Given the description of an element on the screen output the (x, y) to click on. 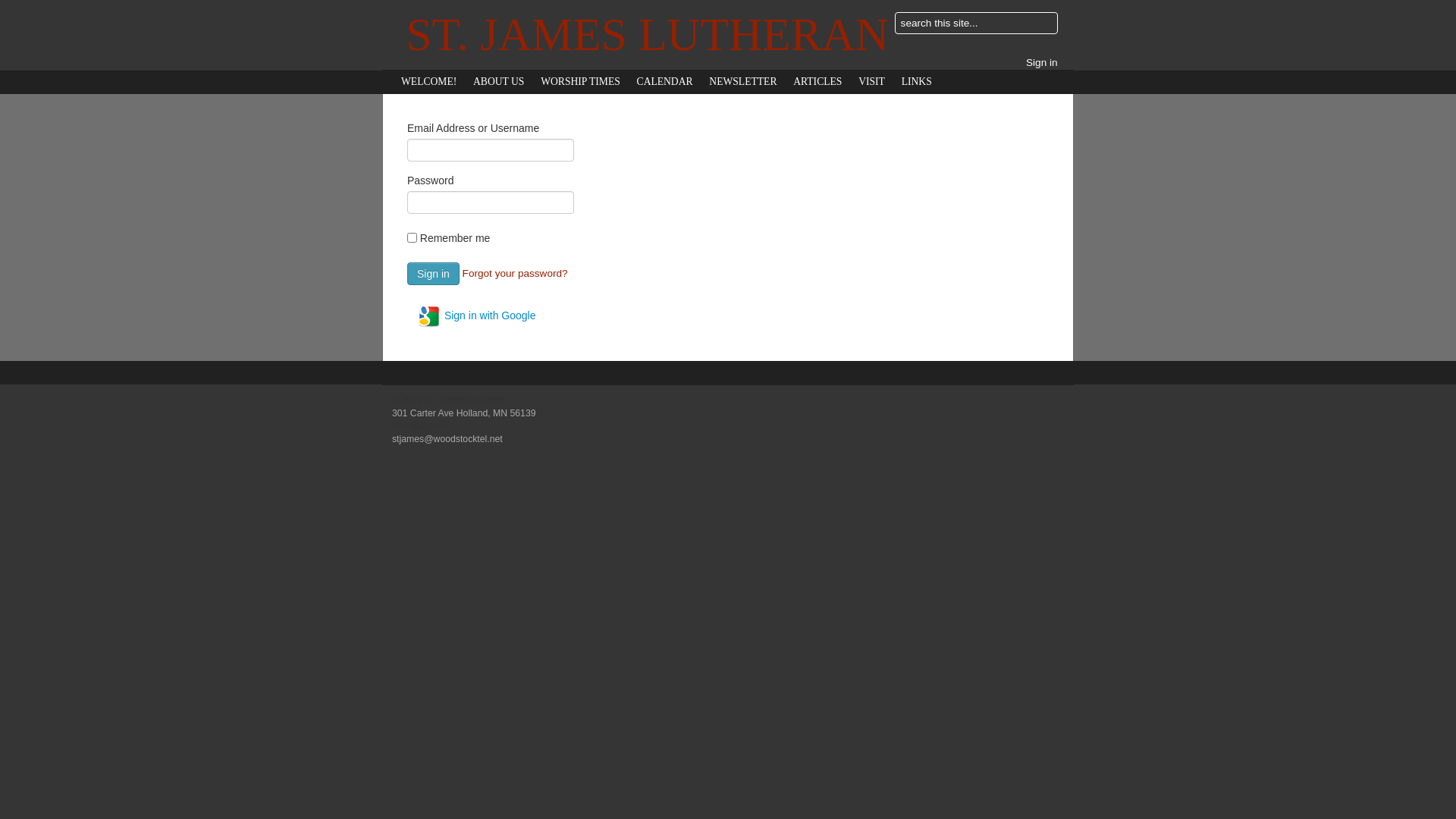
WELCOME! Element type: text (428, 81)
stjames@woodstocktel.net Element type: text (447, 438)
Sign in with Google Element type: text (476, 316)
Sign in Element type: text (1041, 62)
LINKS Element type: text (916, 81)
ARTICLES Element type: text (817, 81)
WORSHIP TIMES Element type: text (580, 81)
301 Carter Ave Holland, MN 56139 Element type: text (464, 412)
Forgot your password? Element type: text (514, 272)
Sign in Element type: text (433, 273)
